Given the description of an element on the screen output the (x, y) to click on. 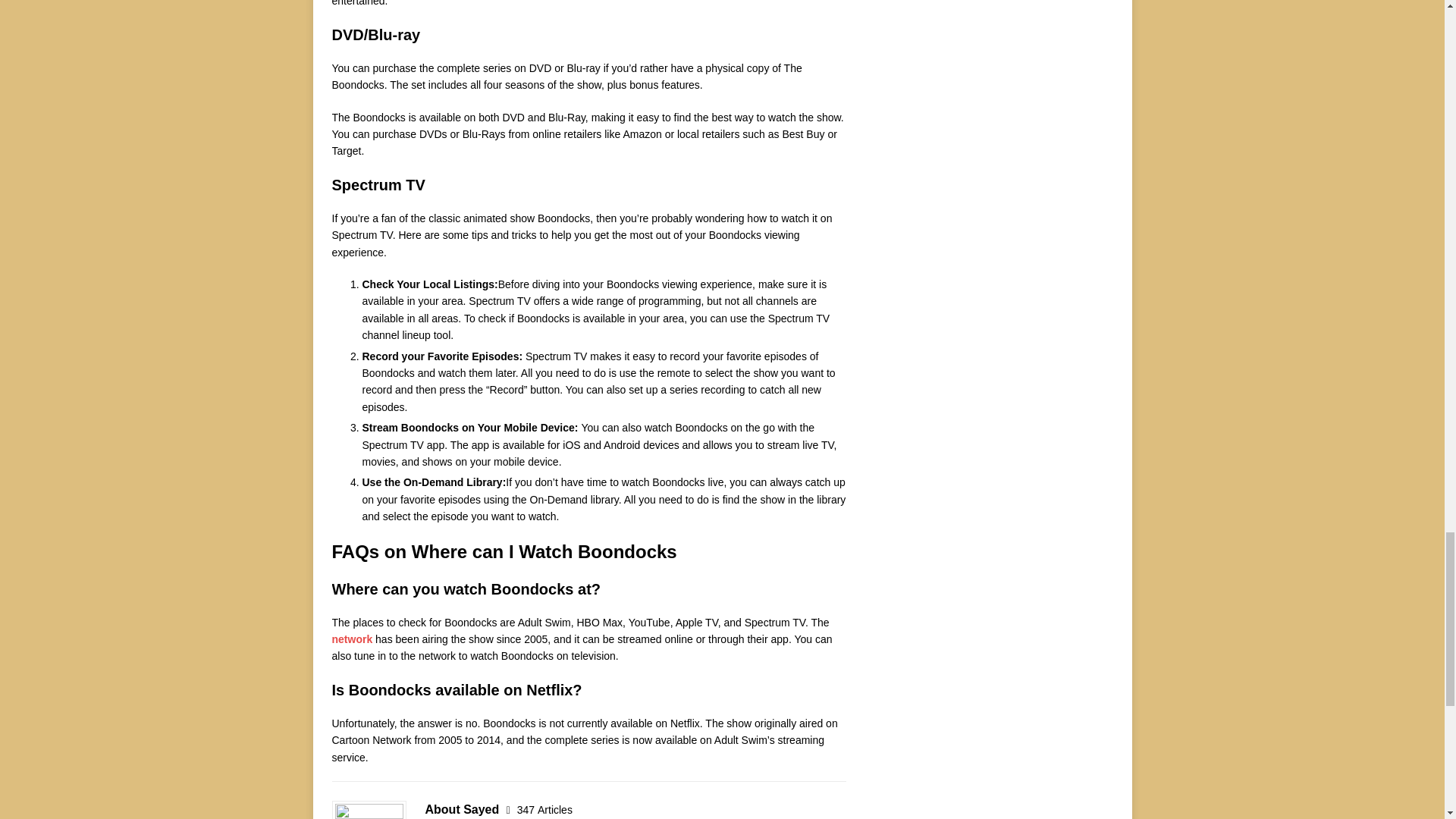
More articles written by Sayed' (544, 809)
